Given the description of an element on the screen output the (x, y) to click on. 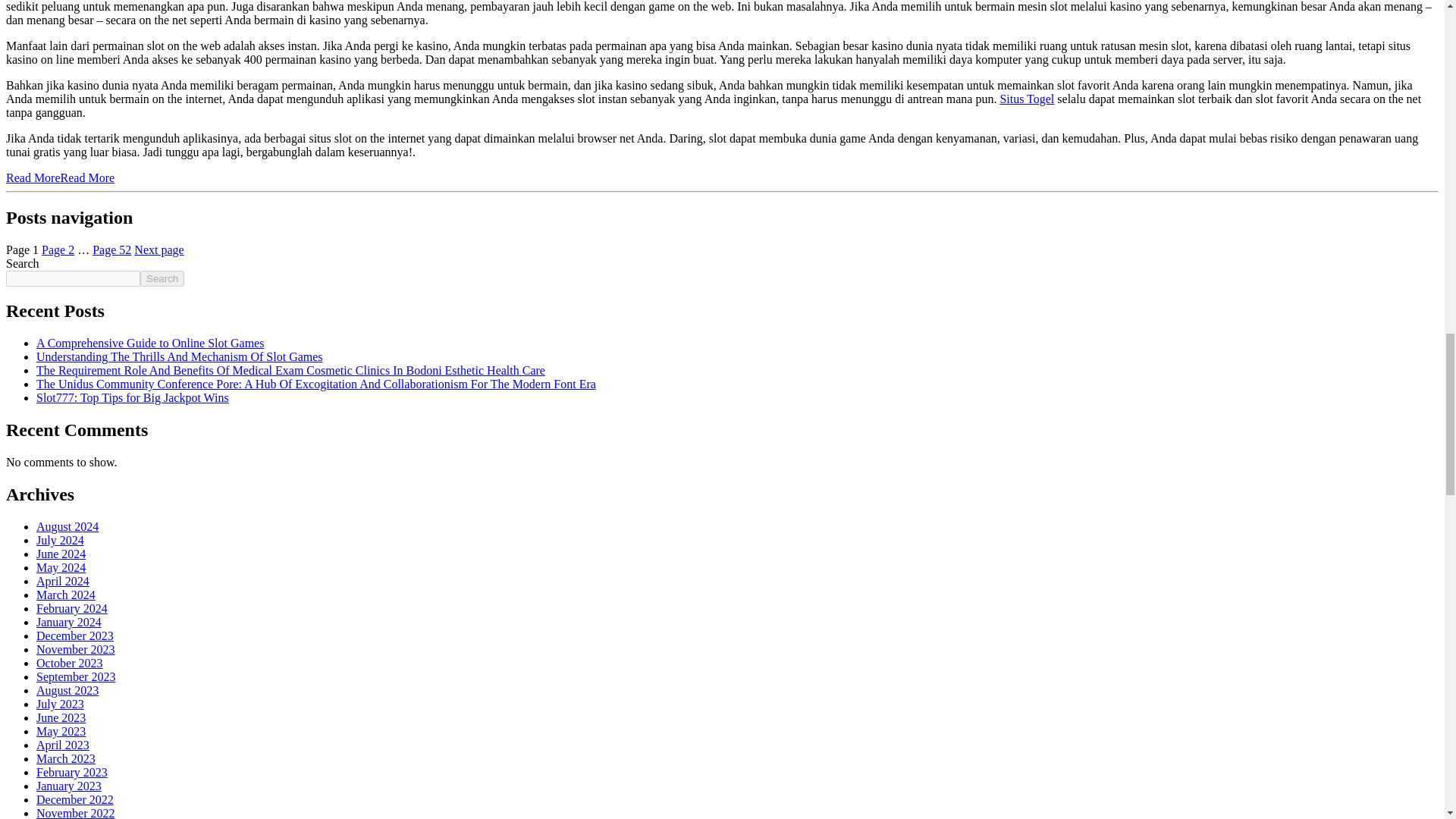
A Comprehensive Guide to Online Slot Games (149, 342)
Read MoreRead More (60, 177)
Search (161, 278)
Next page (158, 249)
Slot777: Top Tips for Big Jackpot Wins (132, 397)
Situs Togel (1026, 98)
Page 52 (112, 249)
August 2024 (67, 526)
